Given the description of an element on the screen output the (x, y) to click on. 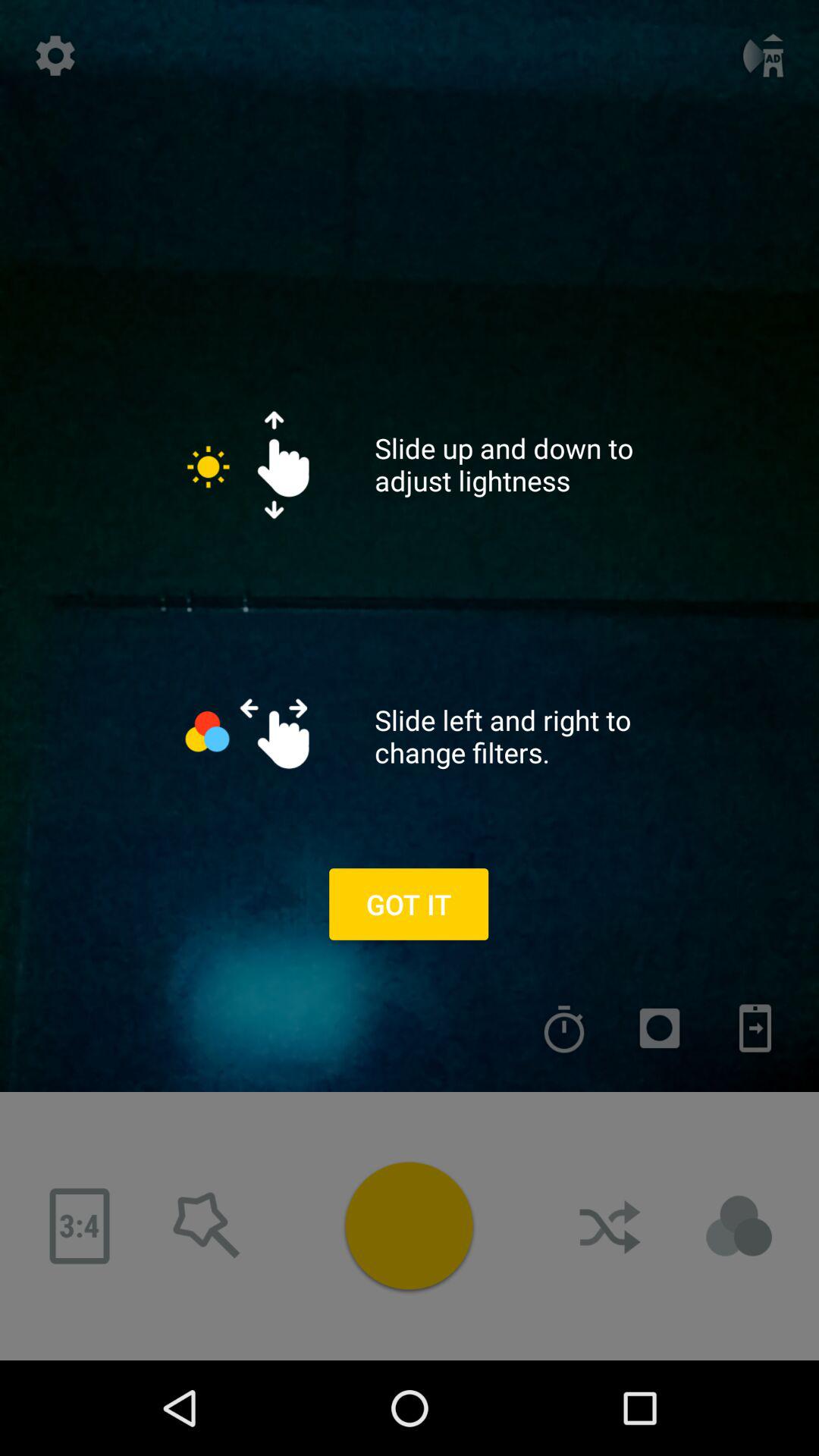
adjust the timer (563, 1028)
